Given the description of an element on the screen output the (x, y) to click on. 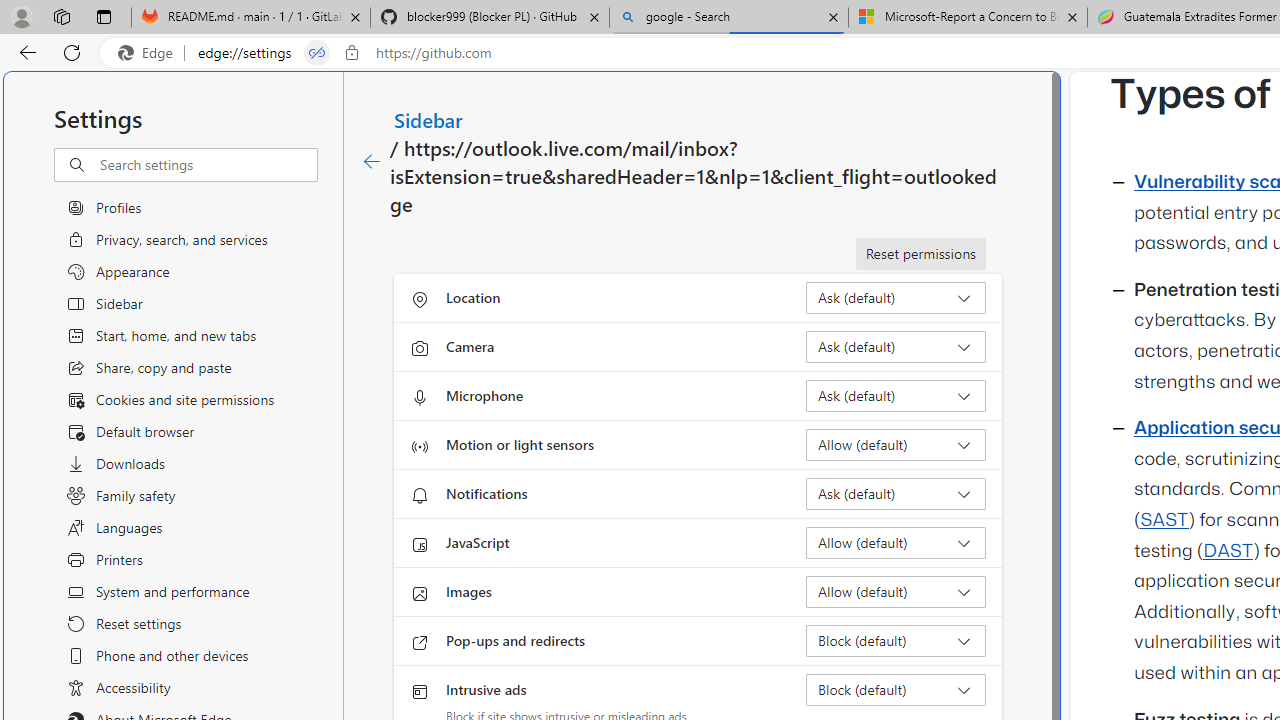
Images Allow (default) (895, 591)
Edge (150, 53)
Class: c01182 (371, 161)
Go back to Sidebar page. (372, 162)
DAST (1228, 551)
SAST (1164, 520)
Microphone Ask (default) (895, 395)
Reset permissions (920, 254)
Search settings (207, 165)
Pop-ups and redirects Block (default) (895, 640)
